Given the description of an element on the screen output the (x, y) to click on. 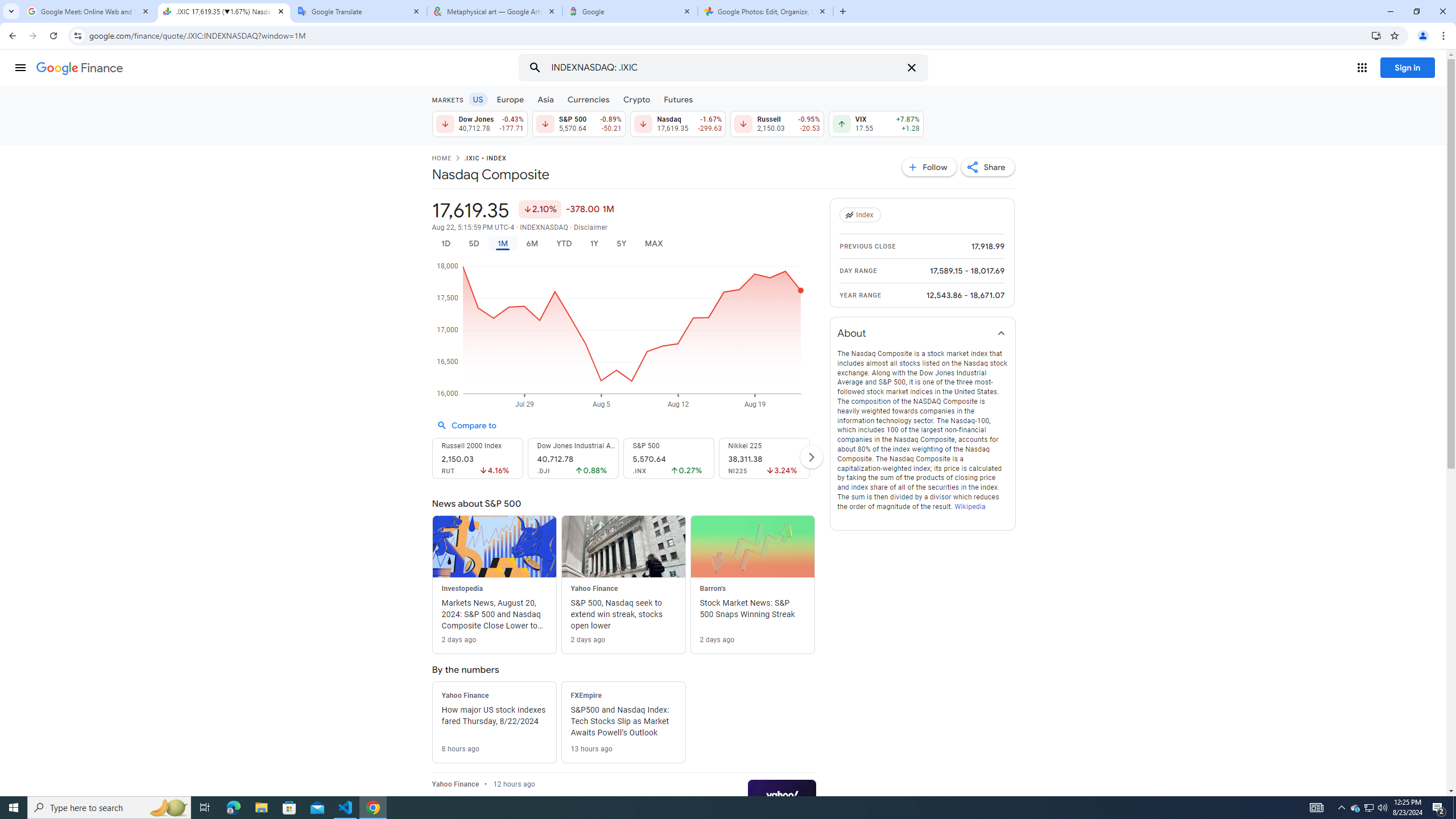
Clear search (911, 67)
Futures (678, 99)
S&P 500 5,570.64 Down by 0.89% -50.21 (578, 123)
Nasdaq 17,619.35 Down by 1.67% -299.63 (678, 123)
Europe (510, 99)
6M (531, 243)
MAX (653, 243)
